Given the description of an element on the screen output the (x, y) to click on. 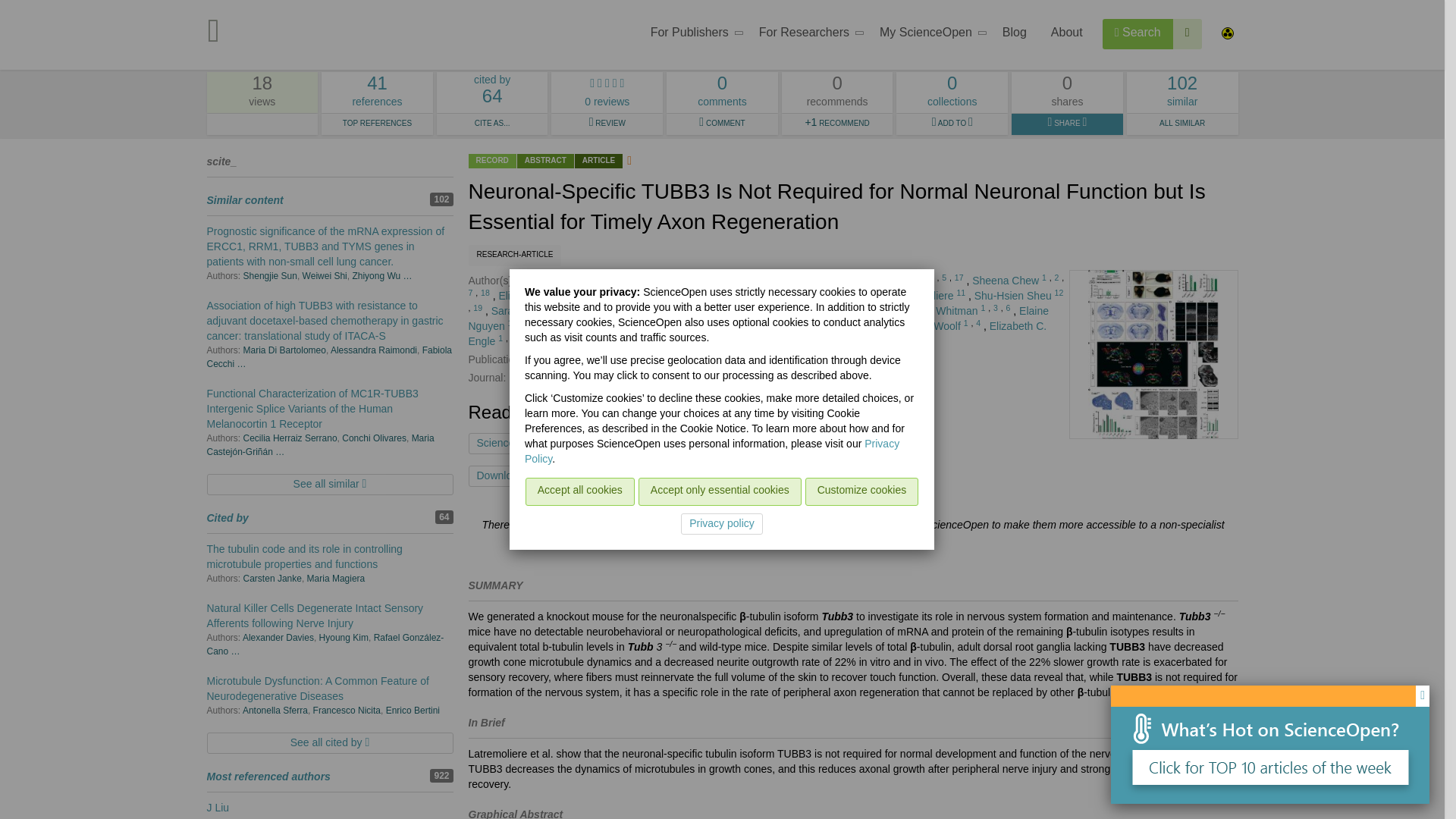
My ScienceOpen (928, 34)
Advanced search (1187, 33)
For Publishers (376, 92)
Search (692, 34)
Bookmark (1137, 33)
For Researchers (647, 476)
TOP REFERENCES (806, 34)
